Given the description of an element on the screen output the (x, y) to click on. 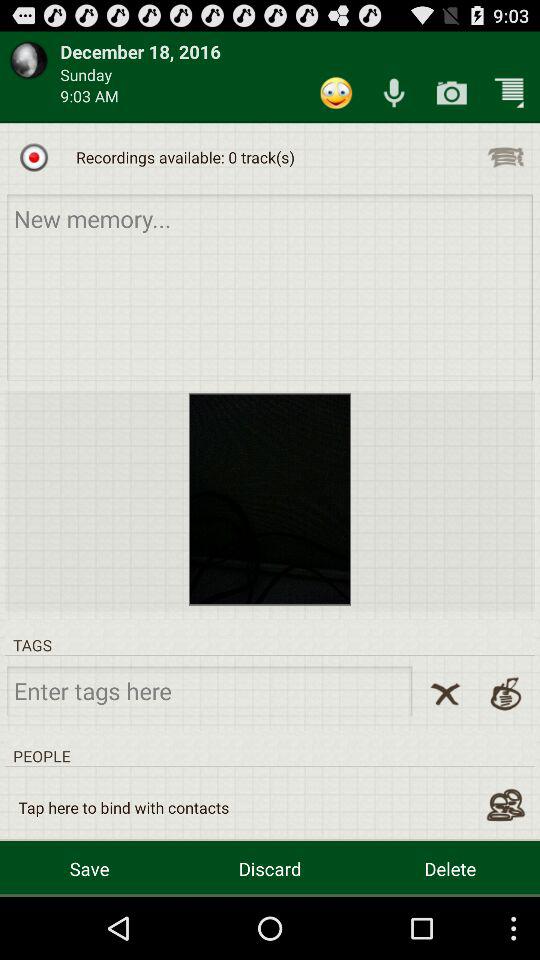
turn off the save item (89, 868)
